Given the description of an element on the screen output the (x, y) to click on. 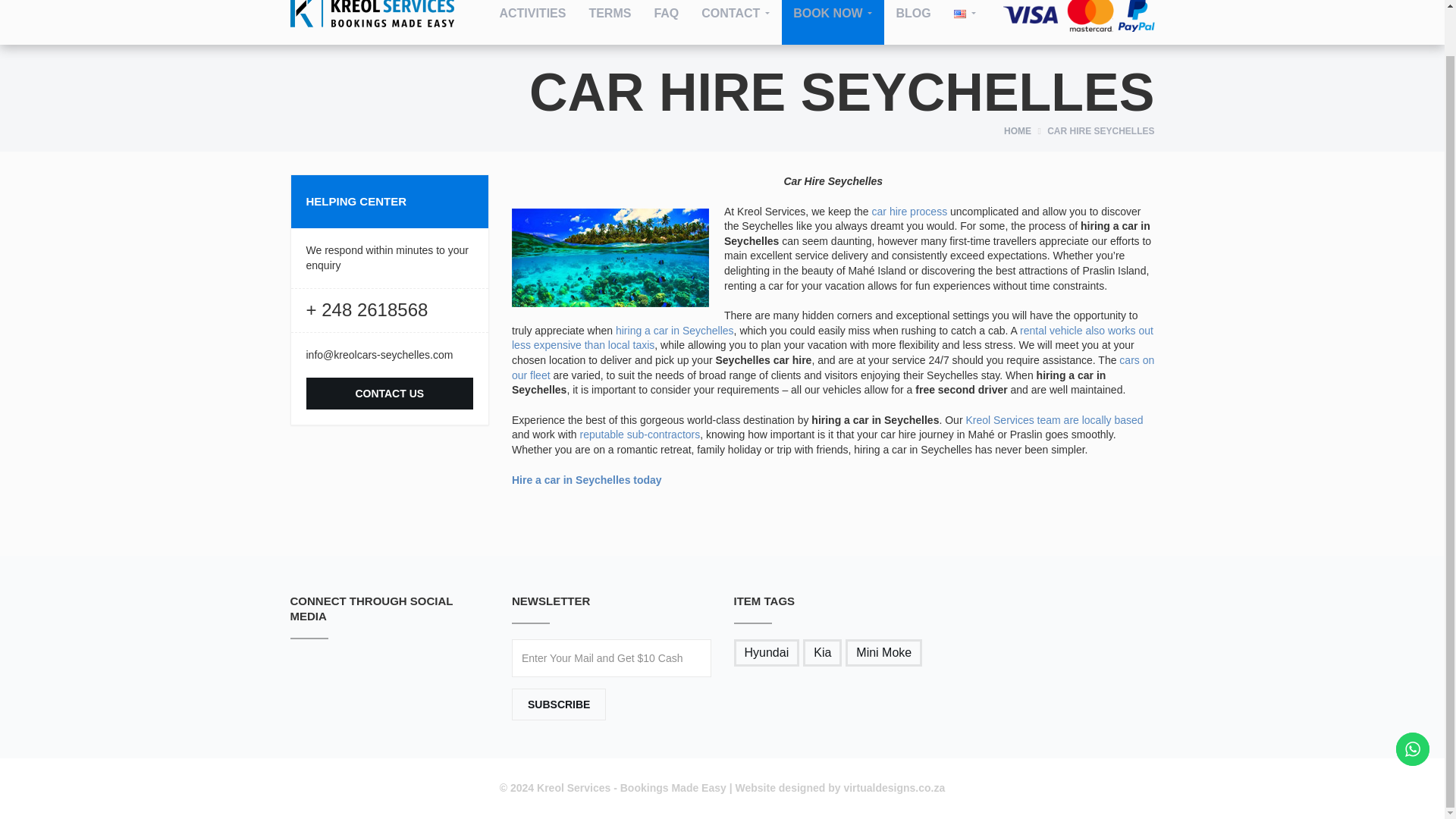
CONTACT US (389, 393)
SUBSCRIBE (558, 704)
ACTIVITIES (531, 22)
Kia (822, 652)
Hire a car in Seychelles today (587, 480)
hiring a car in Seychelles (674, 330)
TERMS (609, 22)
FAQ (666, 22)
Mini Moke (883, 652)
Hyundai (766, 652)
BLOG (912, 22)
BOOK NOW (832, 22)
CONTACT (735, 22)
HOME (1017, 131)
